Given the description of an element on the screen output the (x, y) to click on. 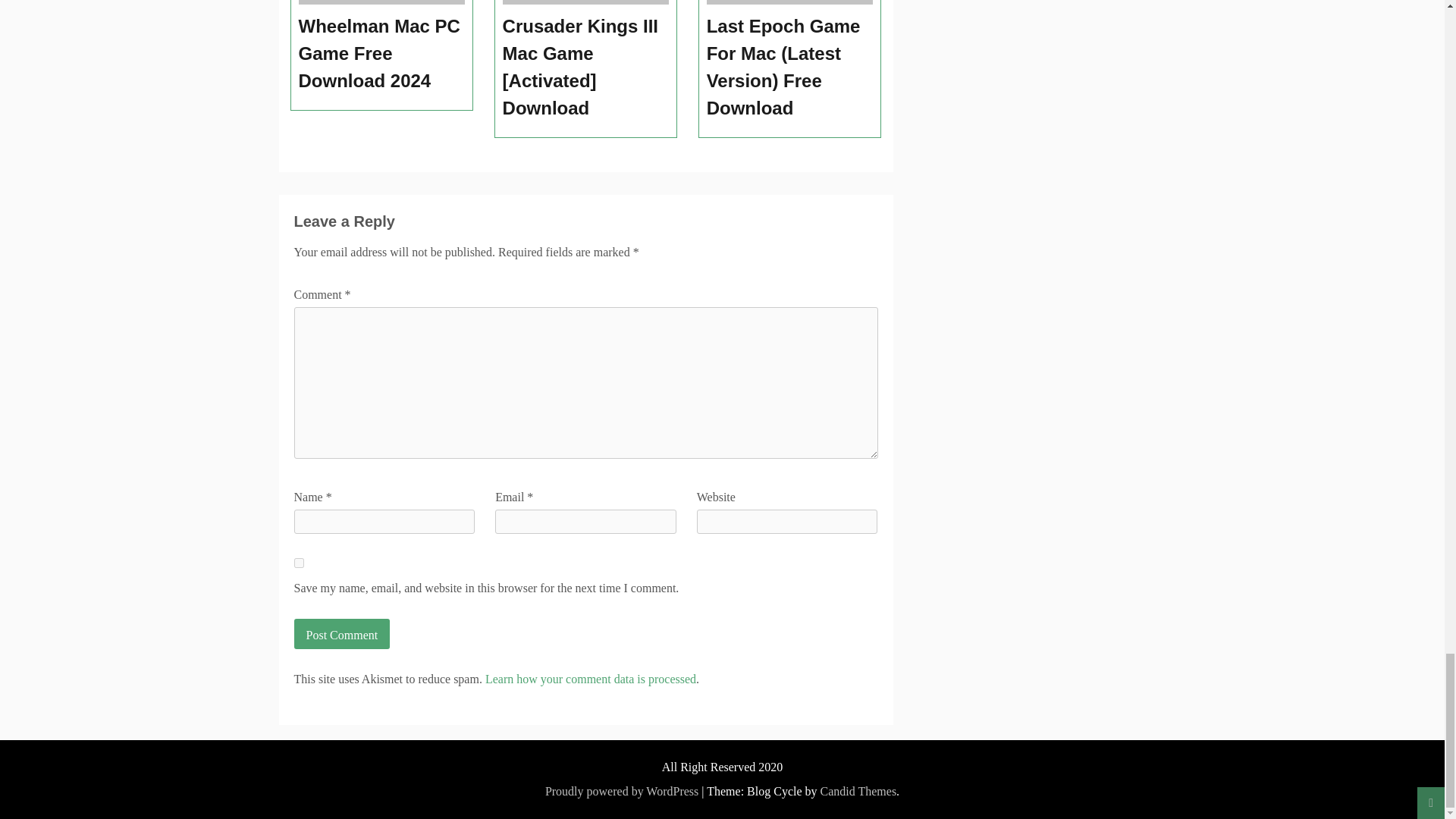
Post Comment (342, 634)
yes (299, 562)
